Given the description of an element on the screen output the (x, y) to click on. 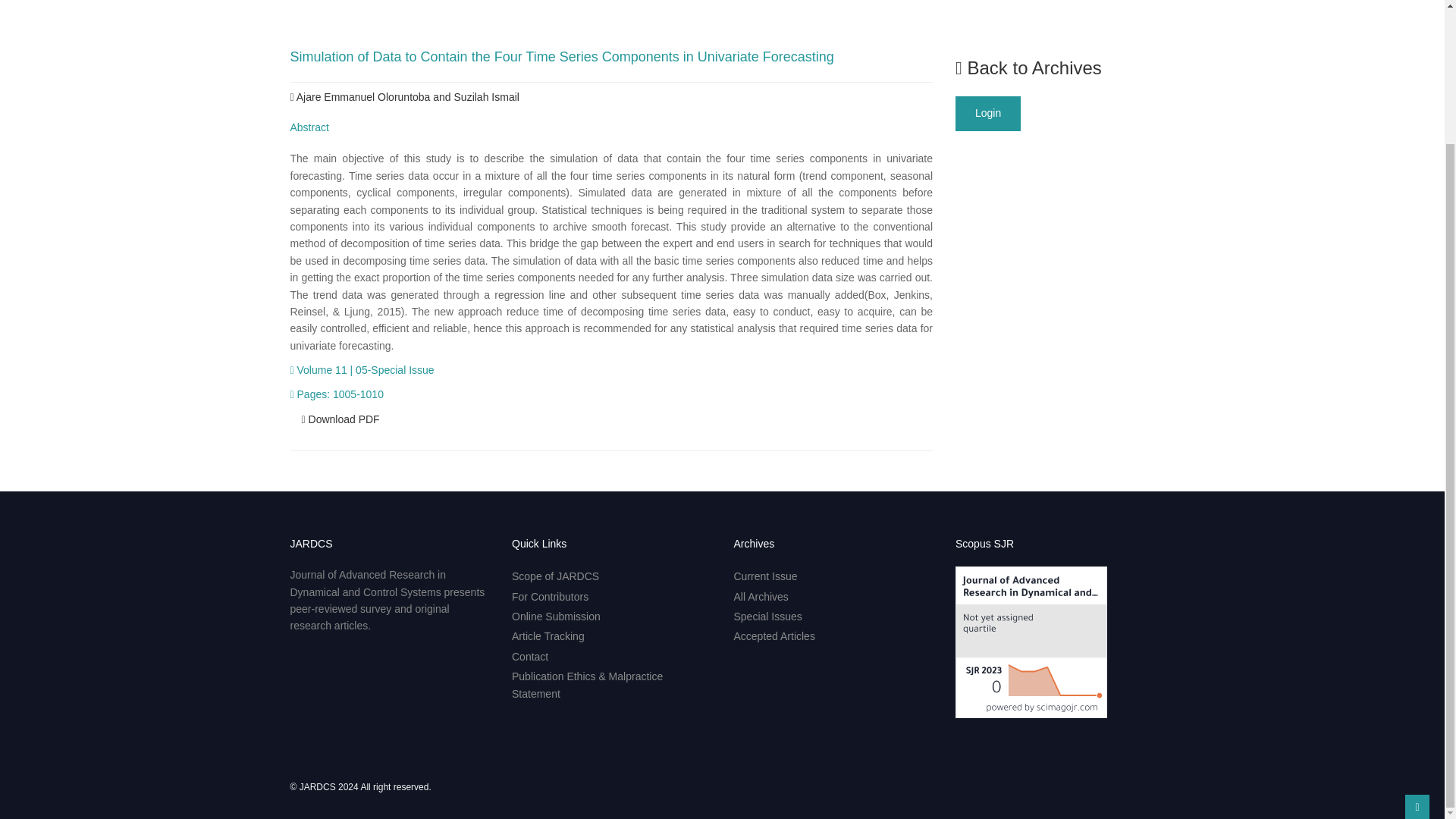
For Contributors (550, 596)
Scope of JARDCS (555, 576)
Download PDF (340, 419)
All Archives (761, 596)
Special Issues (767, 616)
Login (987, 113)
Online Submission (555, 616)
Contact (530, 656)
Current Issue (765, 576)
Back to Archives (1028, 67)
